Given the description of an element on the screen output the (x, y) to click on. 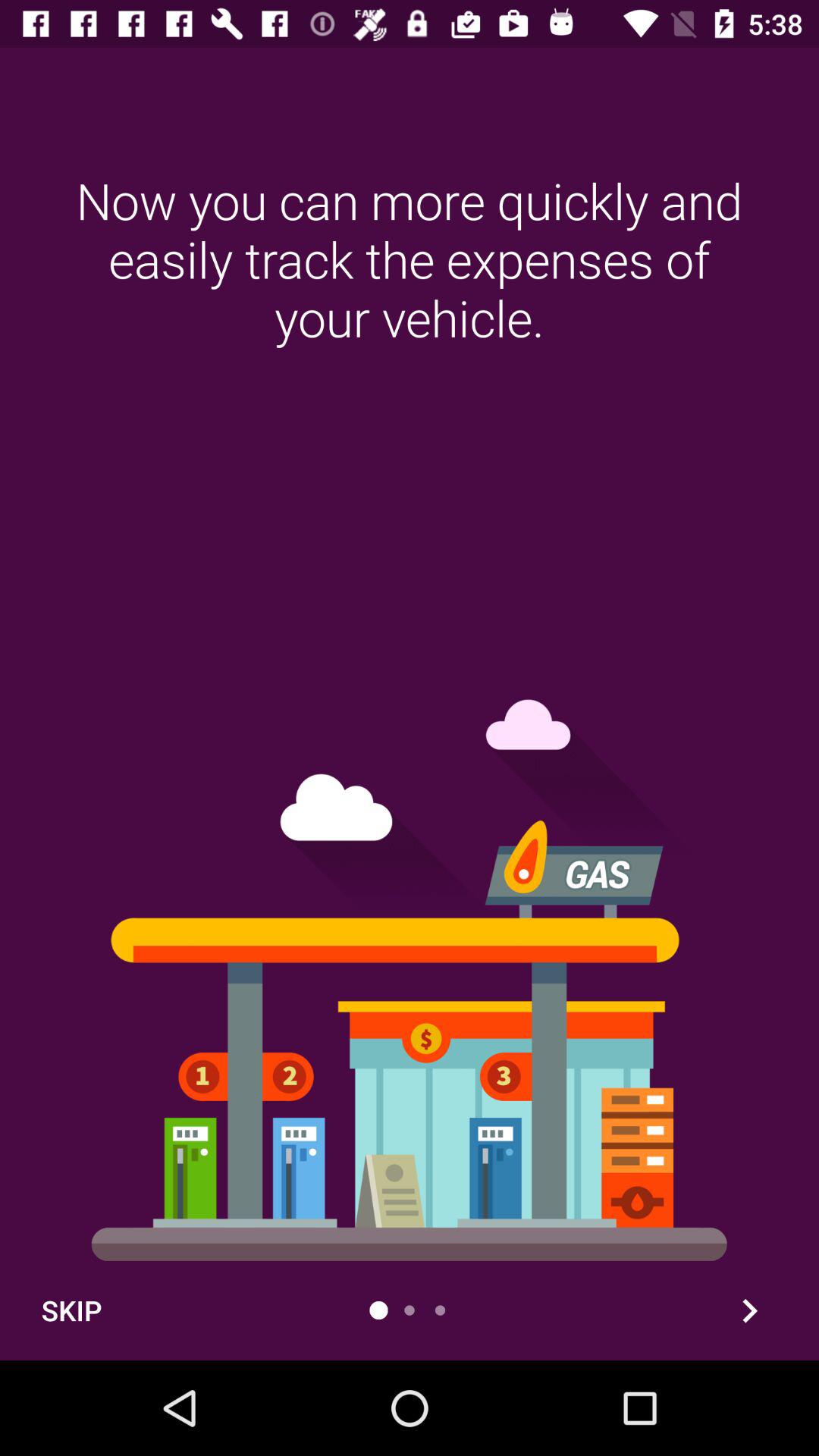
forwed (749, 1310)
